Given the description of an element on the screen output the (x, y) to click on. 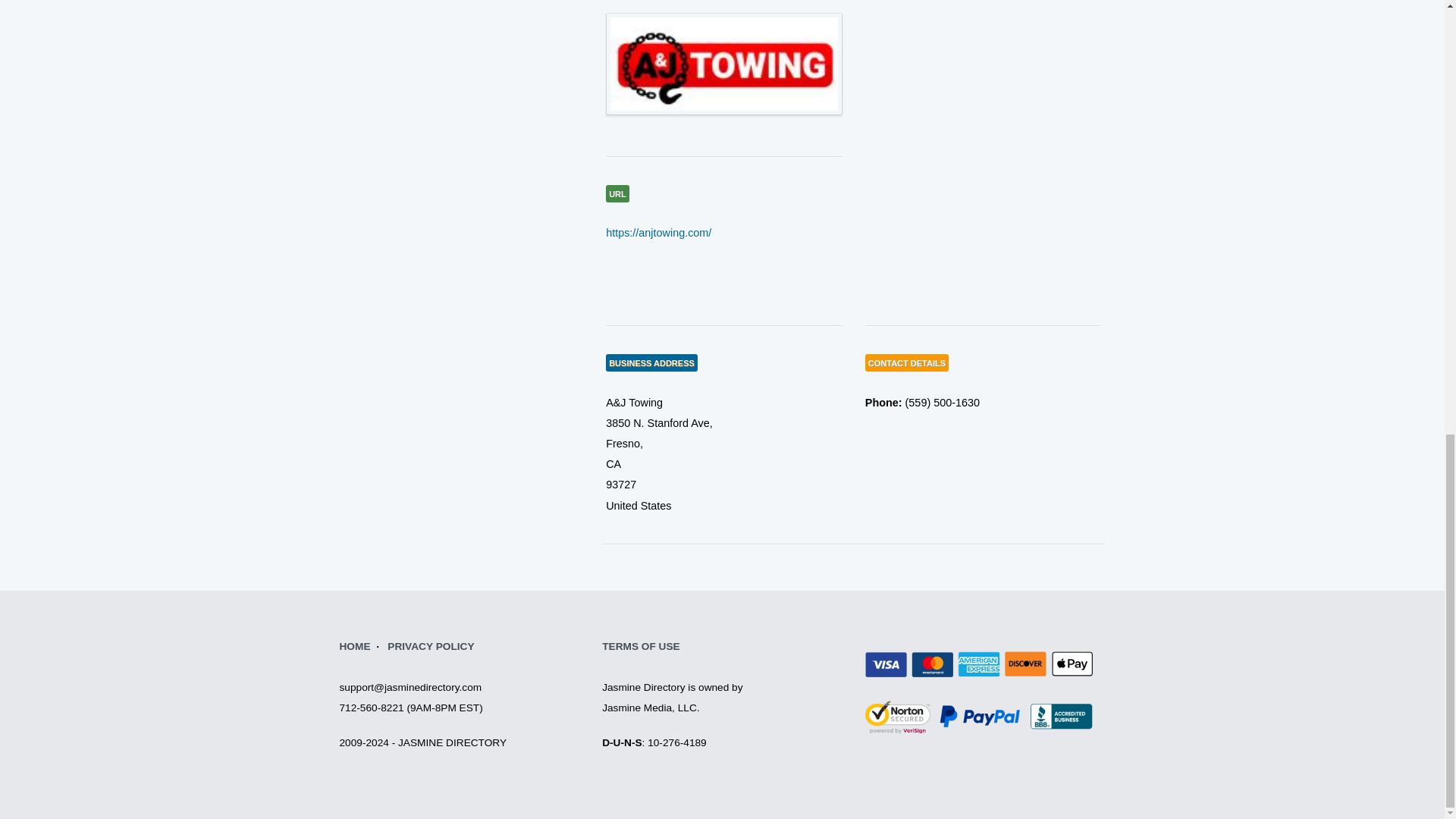
HOME (355, 645)
PRIVACY POLICY (430, 645)
BUSINESS WEB DIRECTORY (355, 645)
TERMS OF USE (640, 645)
